Given the description of an element on the screen output the (x, y) to click on. 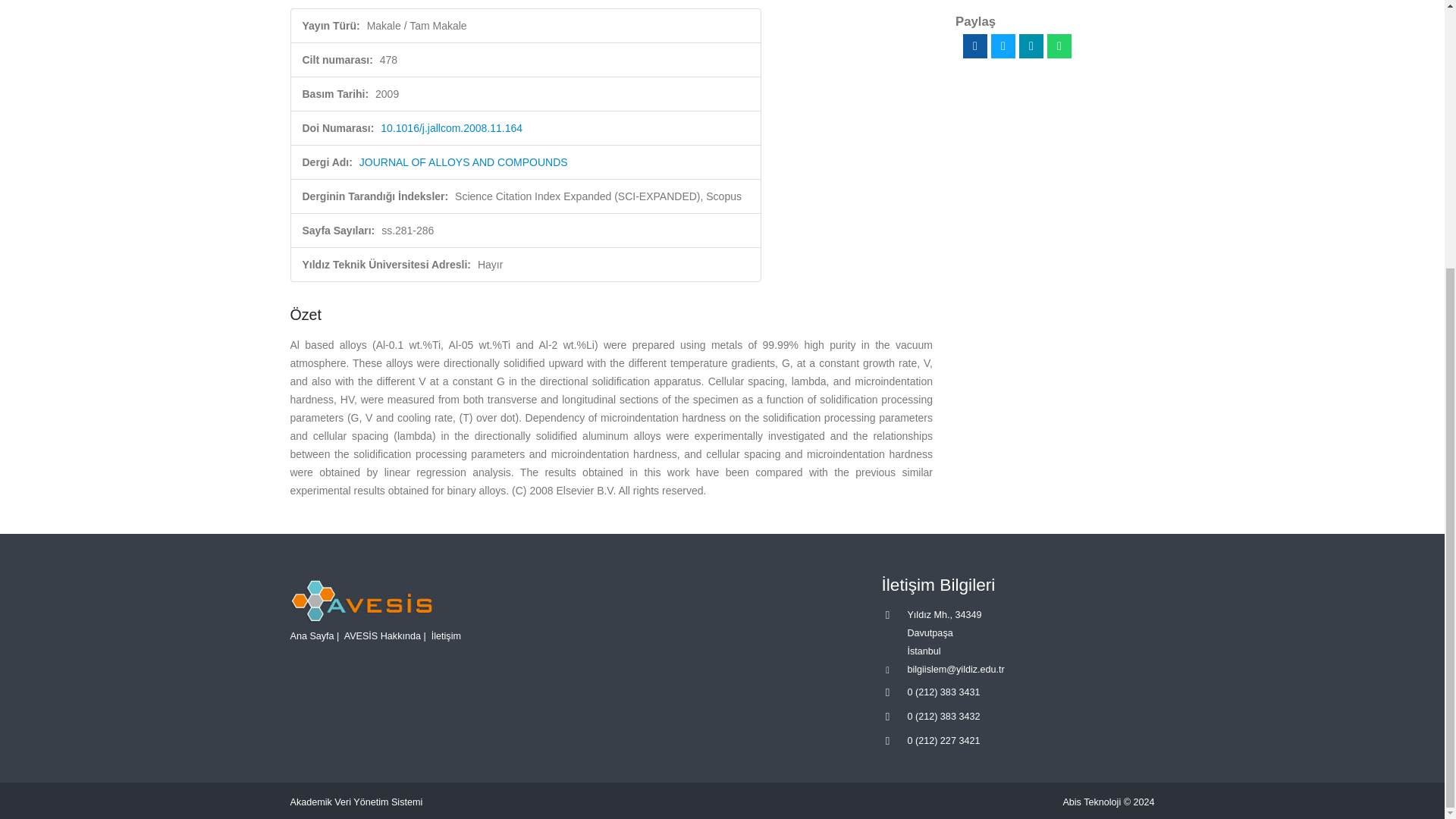
Abis Teknoloji (1091, 801)
Ana Sayfa (311, 635)
JOURNAL OF ALLOYS AND COMPOUNDS (463, 162)
